Given the description of an element on the screen output the (x, y) to click on. 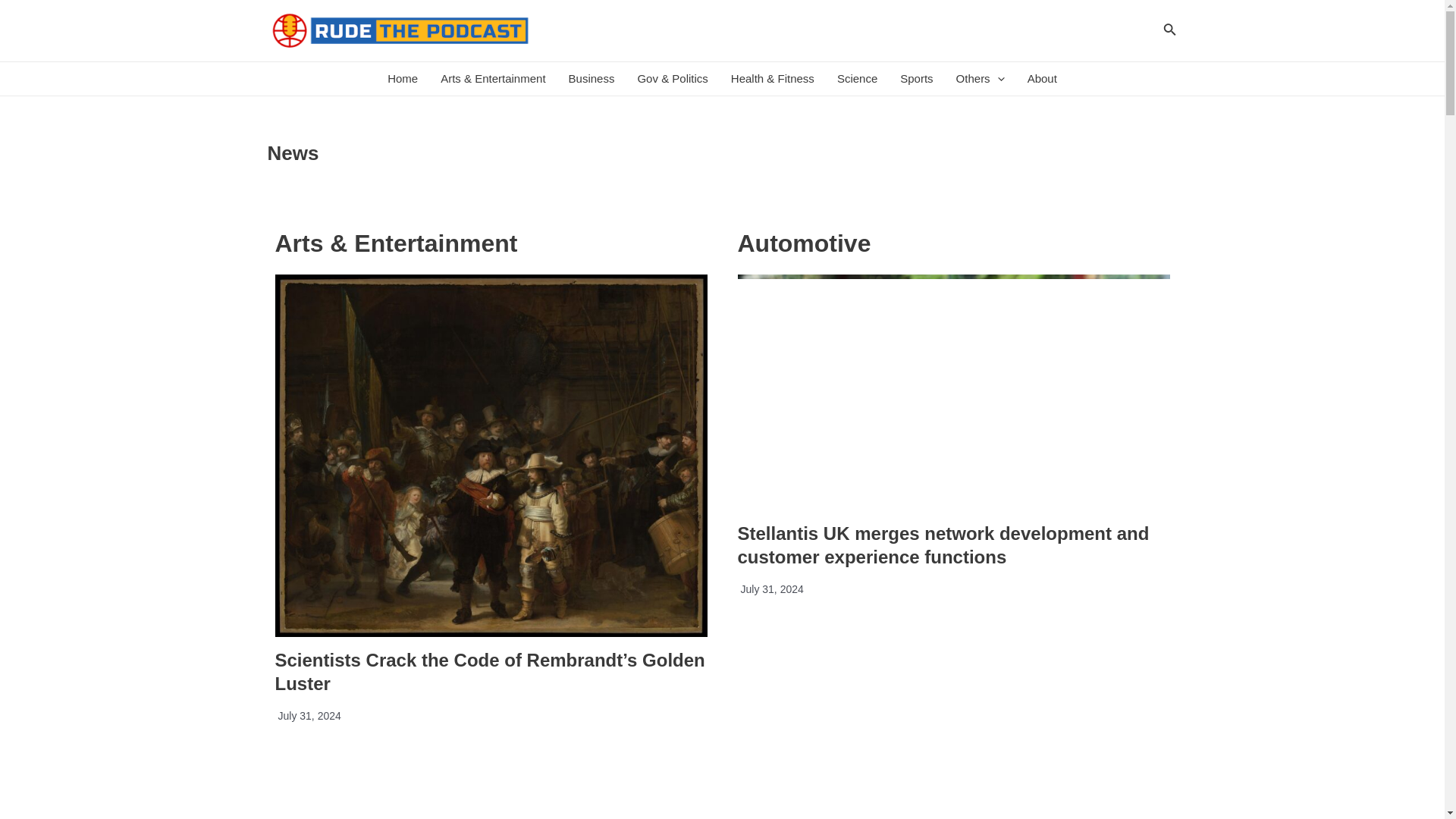
Business (591, 78)
Others (980, 78)
Sports (915, 78)
Home (402, 78)
Science (856, 78)
About (1042, 78)
